Given the description of an element on the screen output the (x, y) to click on. 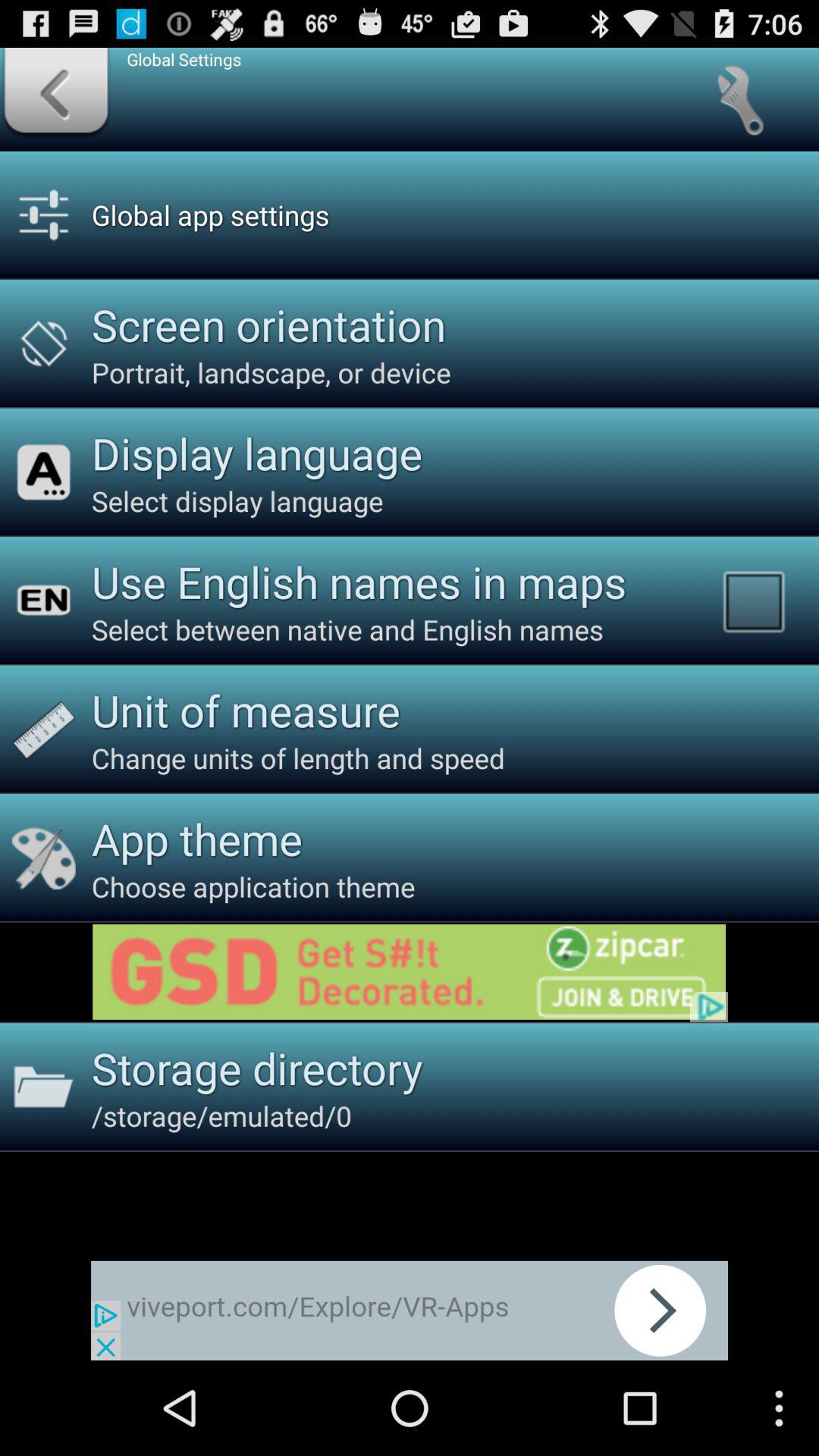
link to advertisement (409, 972)
